Given the description of an element on the screen output the (x, y) to click on. 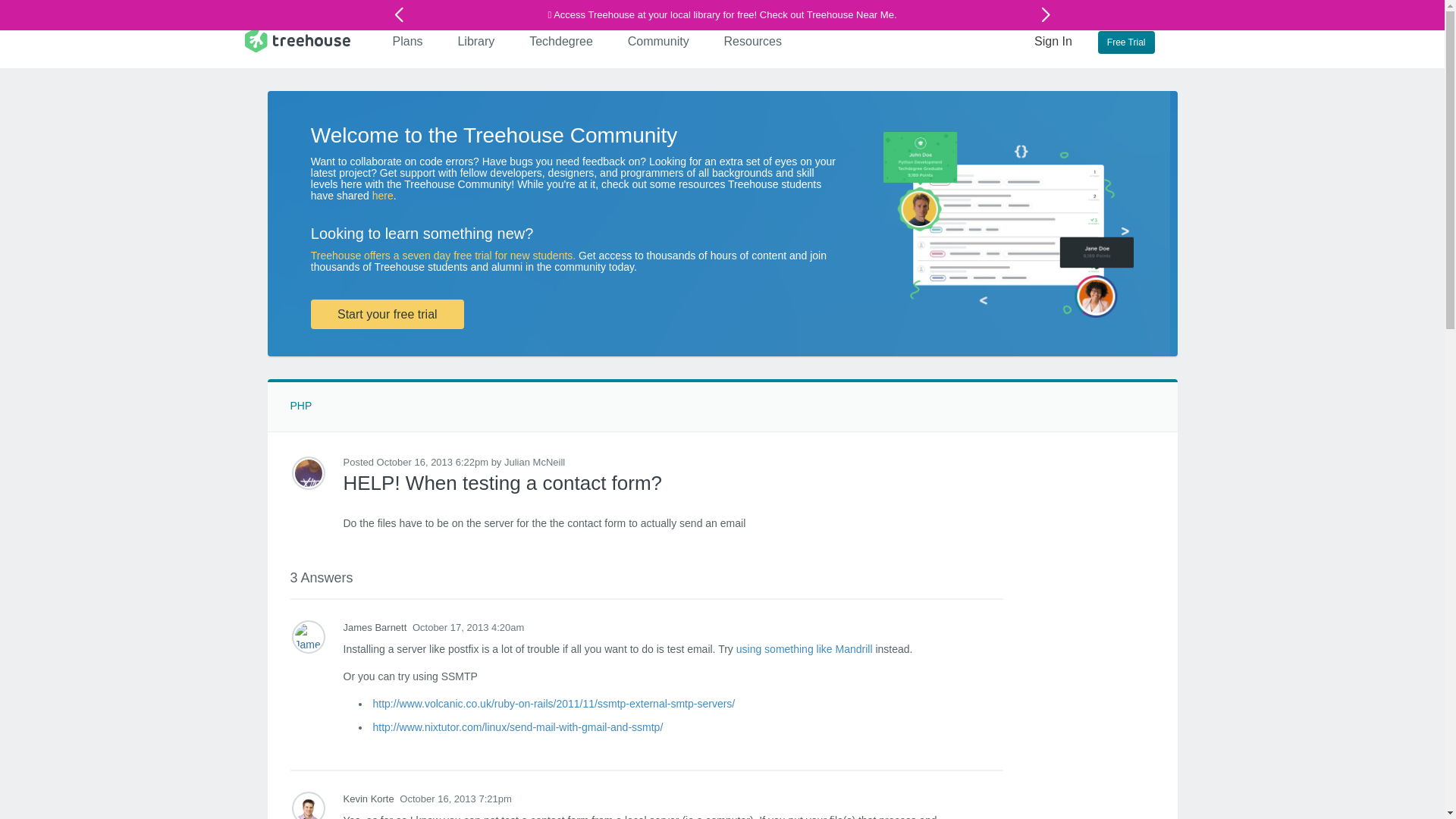
Plans (408, 41)
Treehouse Near Me (849, 14)
Treehouse Logo (296, 39)
Treehouse Logo (296, 39)
Library (475, 41)
